Given the description of an element on the screen output the (x, y) to click on. 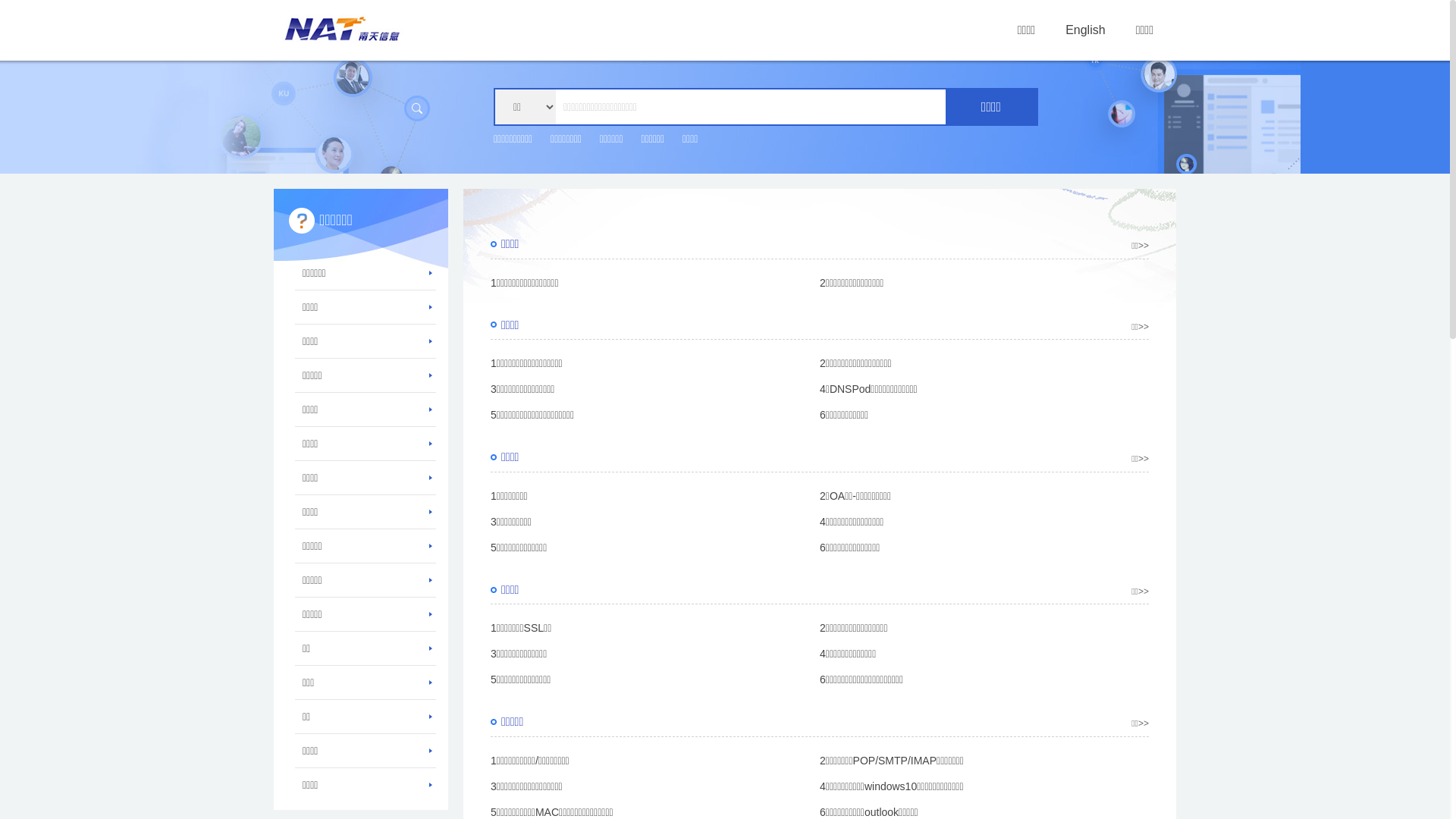
English Element type: text (1084, 30)
LANG_LOGIN_LOGO_TITLE Element type: hover (342, 27)
